Given the description of an element on the screen output the (x, y) to click on. 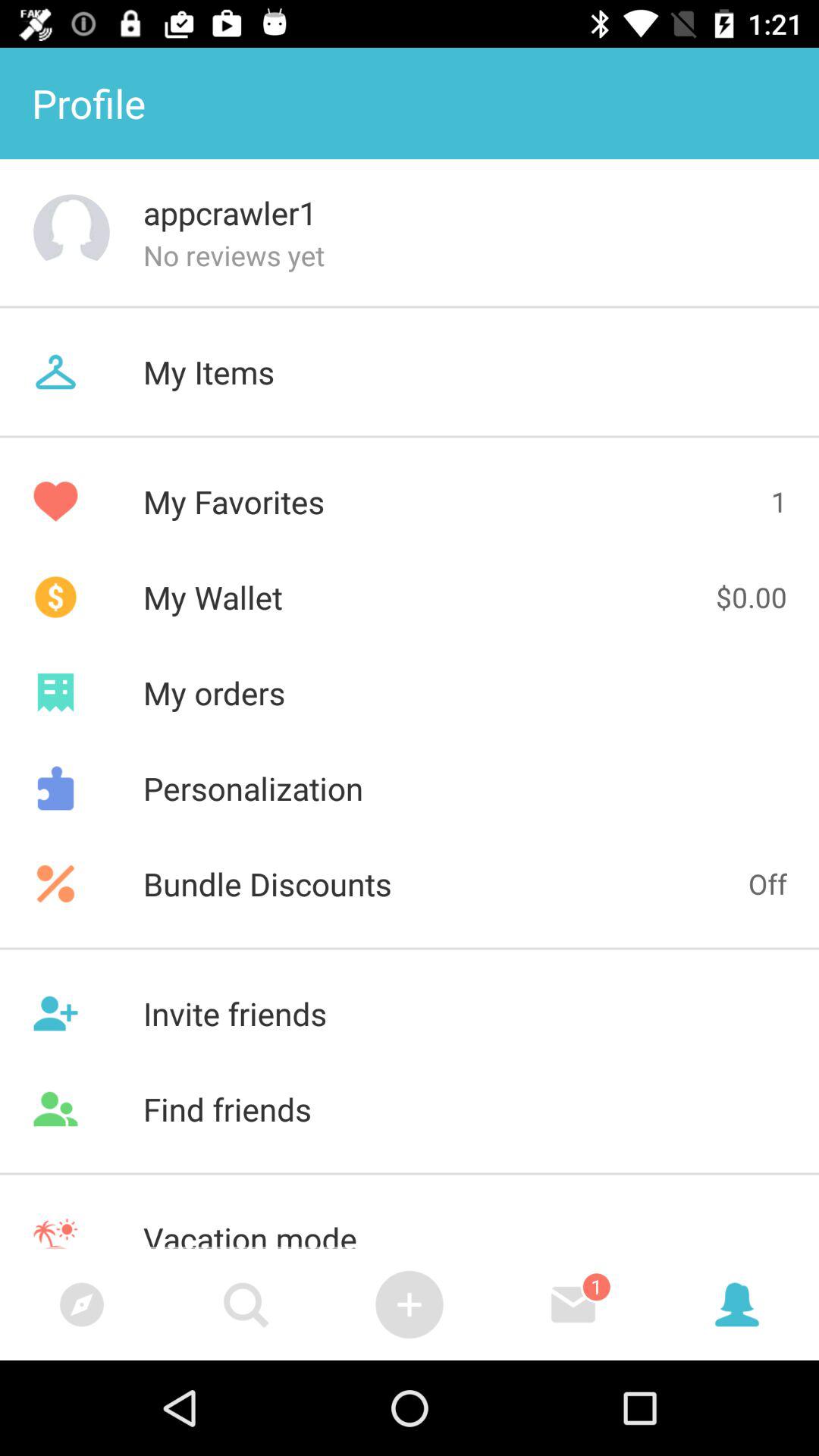
flip to the my orders icon (409, 692)
